Given the description of an element on the screen output the (x, y) to click on. 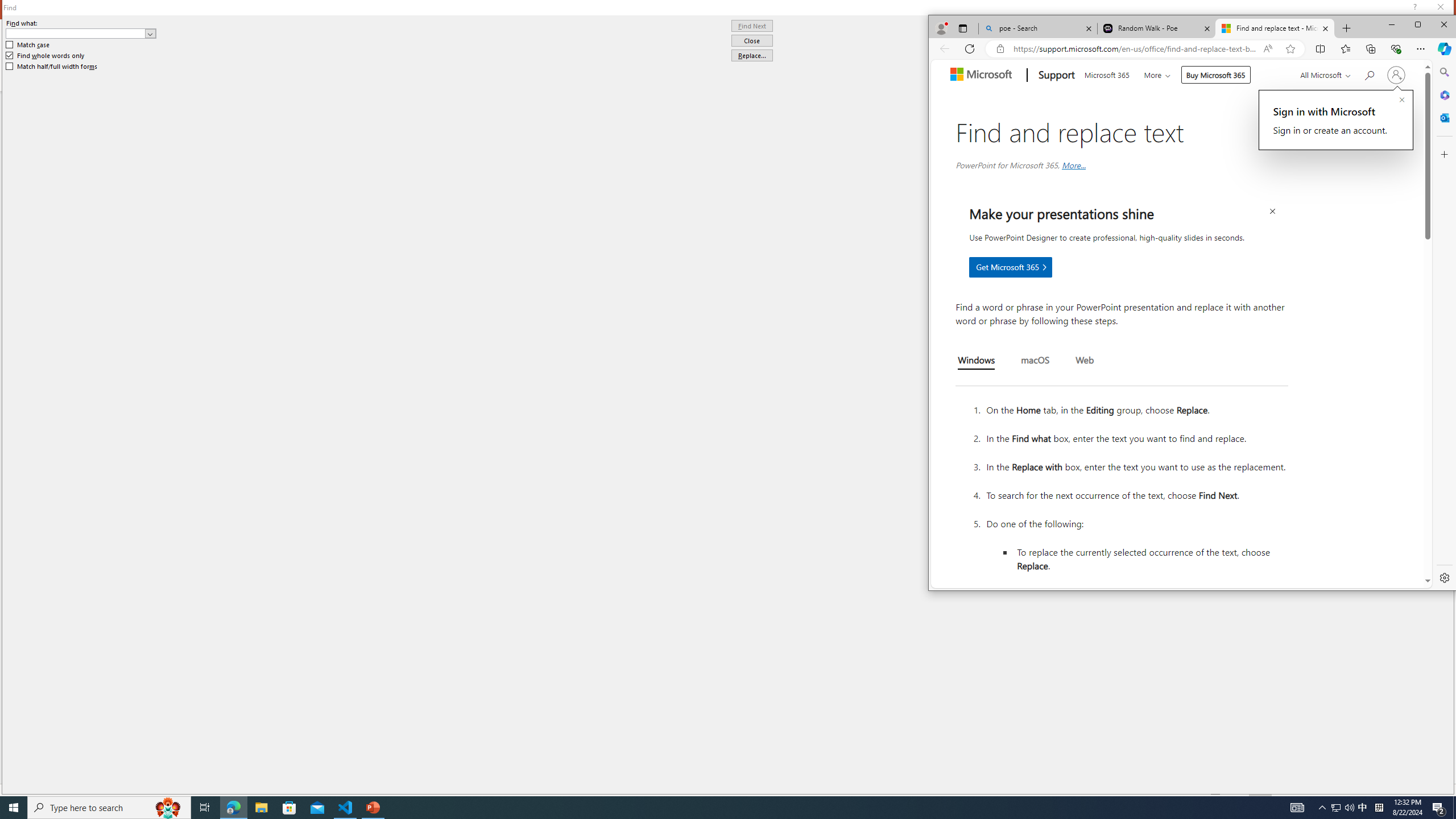
To replace all occurrences of the text, choose Replace All. (1150, 594)
Close Ad (1271, 211)
